Given the description of an element on the screen output the (x, y) to click on. 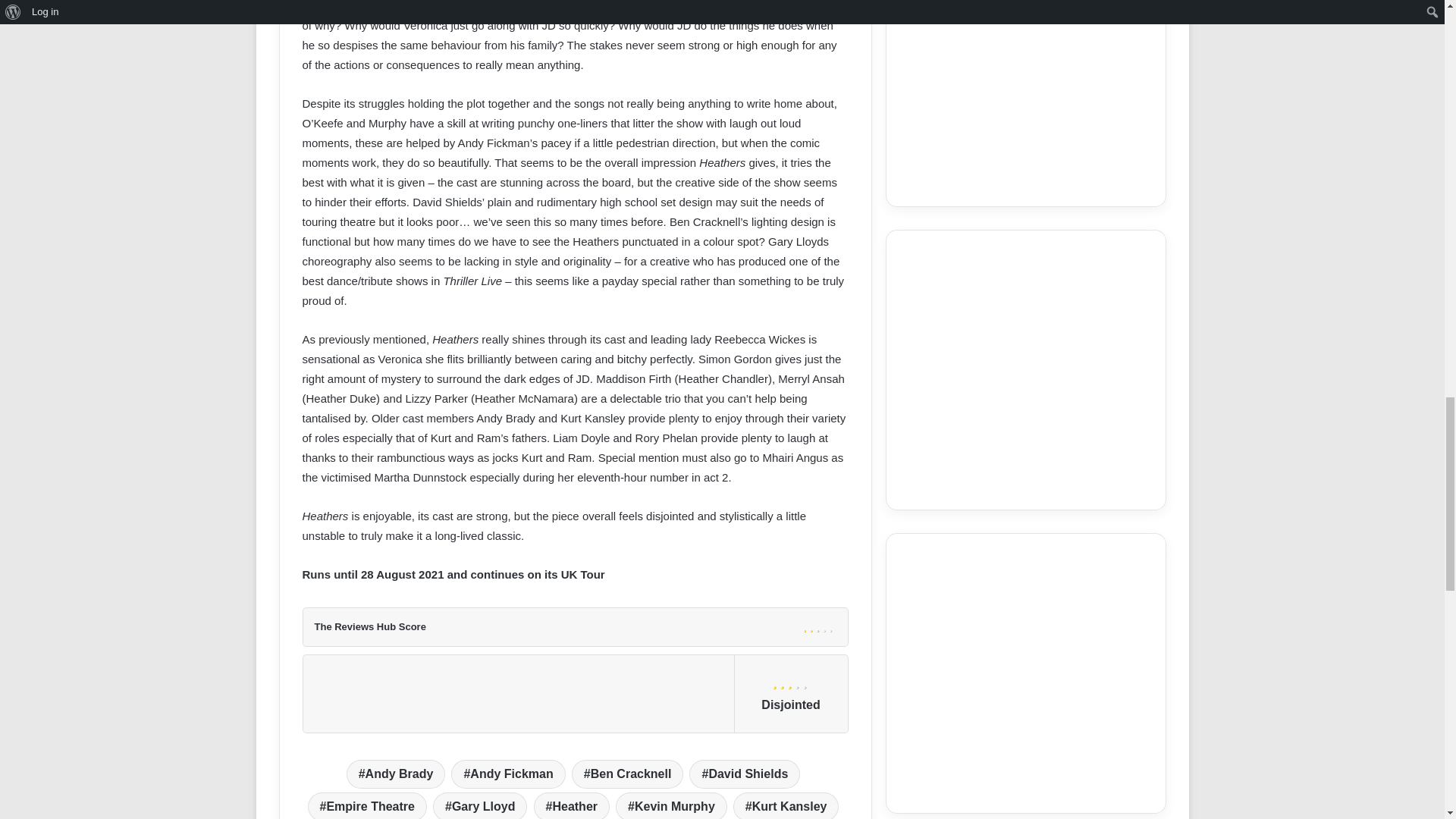
Disjointed (790, 681)
